Given the description of an element on the screen output the (x, y) to click on. 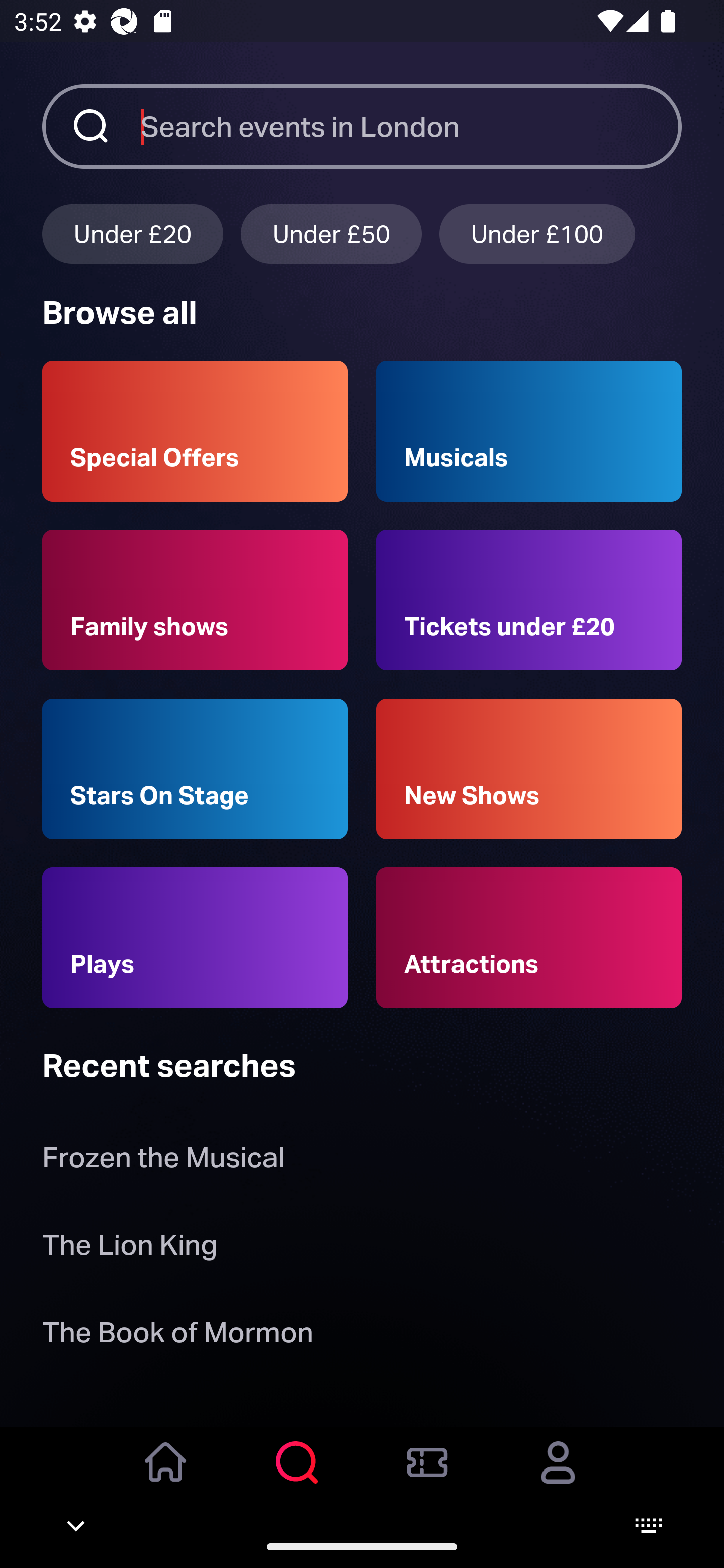
Search events in London (411, 126)
Under £20 (131, 233)
Under £50 (331, 233)
Under £100 (536, 233)
Special Offers (194, 430)
Musicals (528, 430)
Family shows (194, 600)
Tickets under £20  (528, 600)
Stars On Stage (194, 768)
New Shows (528, 768)
Plays (194, 937)
Attractions  (528, 937)
Frozen the Musical (162, 1161)
The Lion King (129, 1248)
The Book of Mormon (177, 1335)
Home (165, 1475)
Orders (427, 1475)
Account (558, 1475)
